Given the description of an element on the screen output the (x, y) to click on. 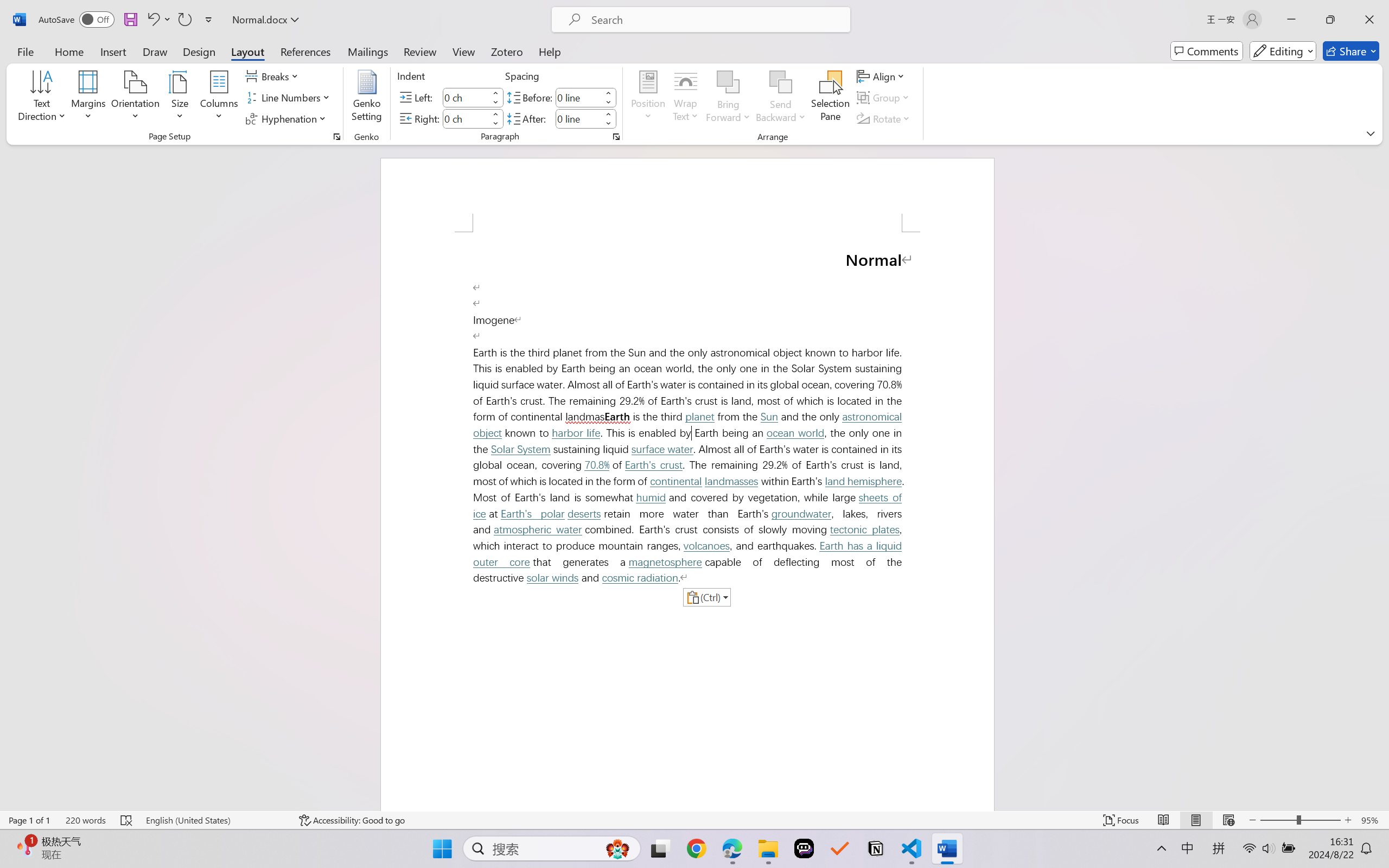
ocean world (794, 433)
Class: NetUIScrollBar (1382, 477)
Wrap Text (685, 97)
Action: Paste alternatives (706, 597)
Genko Setting... (367, 97)
Hyphenation (287, 118)
landmasses (731, 480)
Zoom 95% (1372, 819)
Solar System (520, 448)
surface water (662, 448)
Orientation (135, 97)
